Given the description of an element on the screen output the (x, y) to click on. 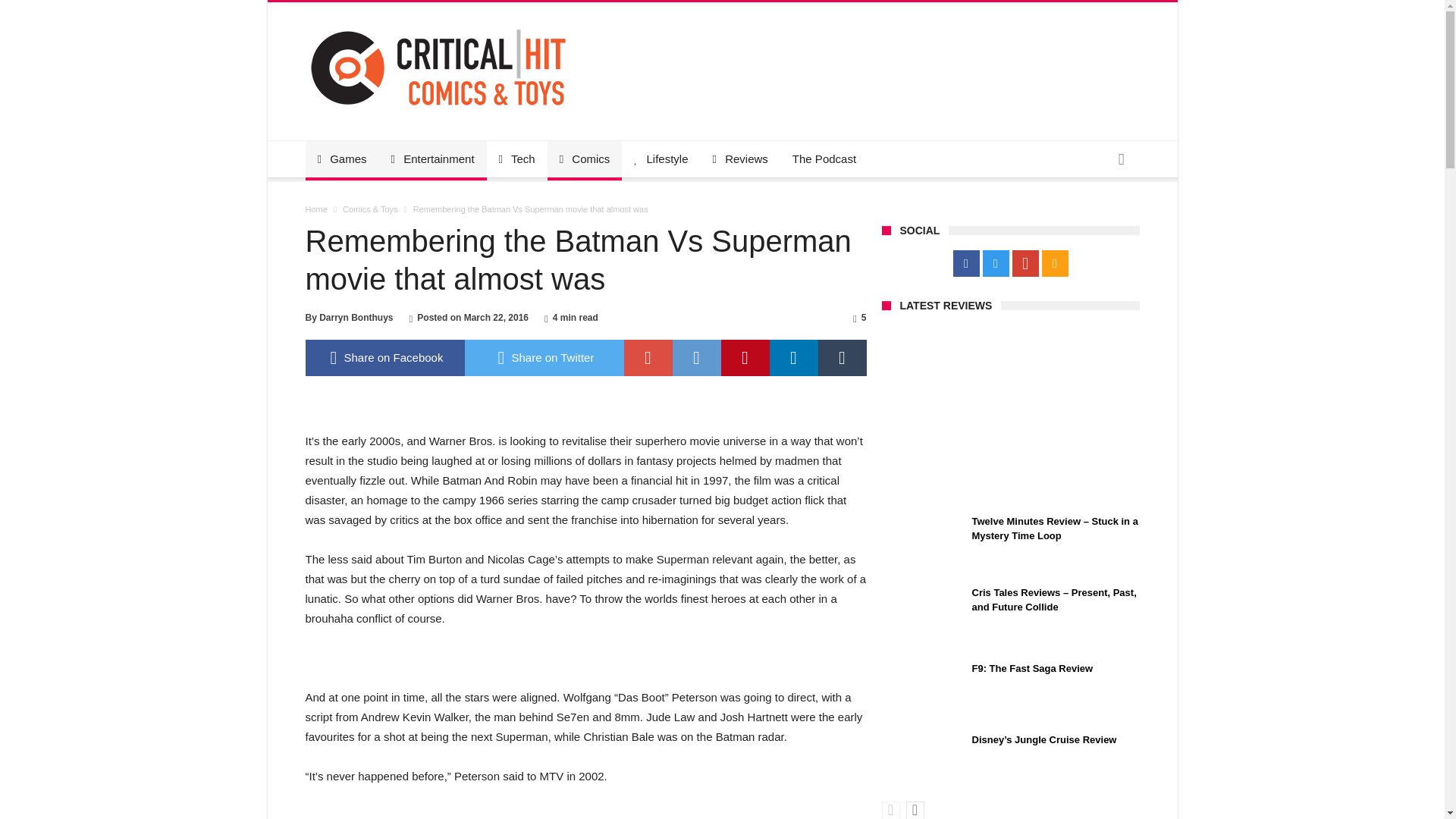
Share on Twitter (543, 357)
reddit (695, 357)
The Podcast (823, 158)
Share on Pinterest (744, 357)
linkedin (792, 357)
Critical Hit (437, 24)
pinterest (744, 357)
Share on Facebook (384, 357)
Share on Linkedin (792, 357)
Home (315, 208)
